Given the description of an element on the screen output the (x, y) to click on. 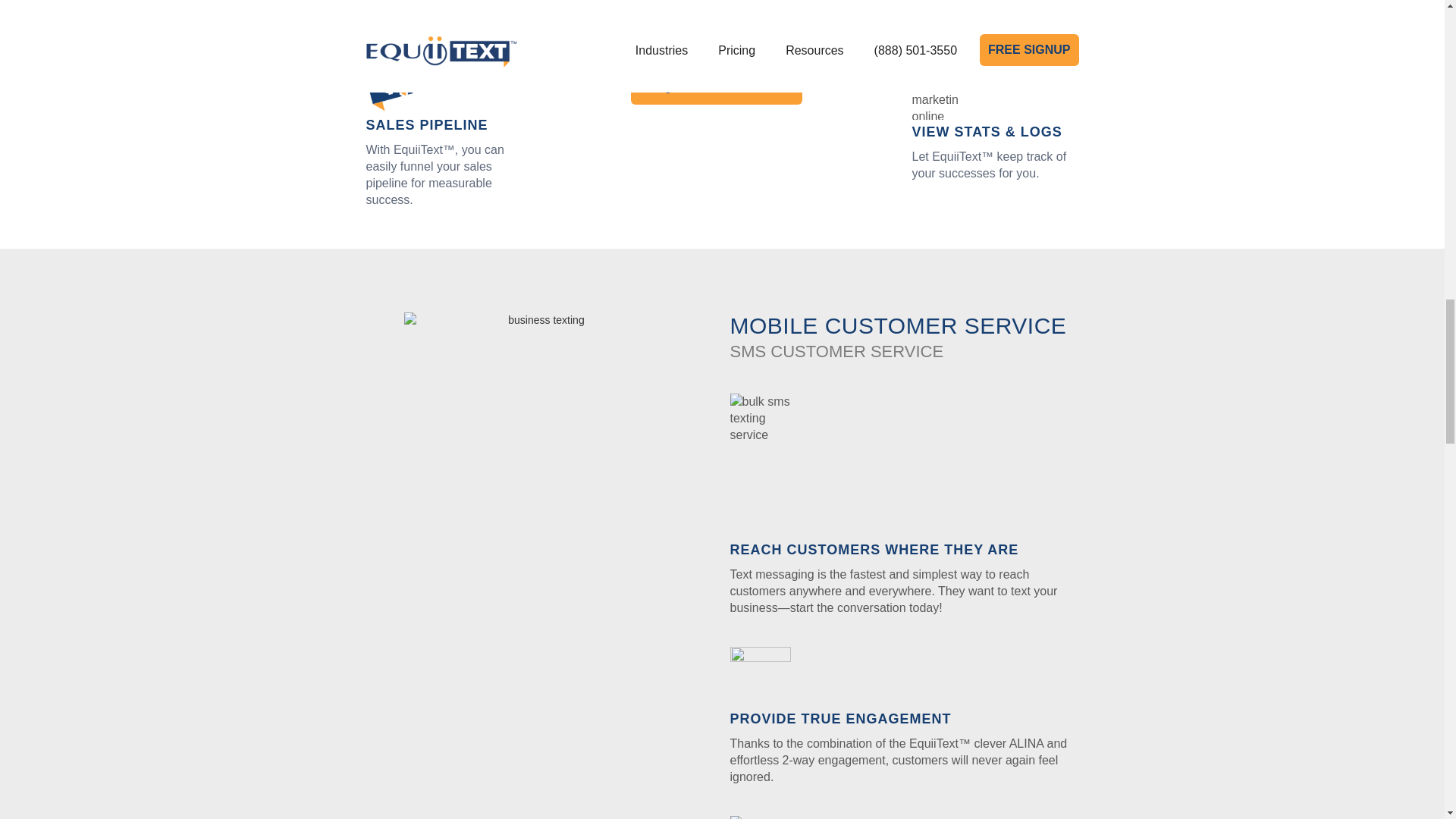
REQUEST FREE TRIAL (716, 85)
